Given the description of an element on the screen output the (x, y) to click on. 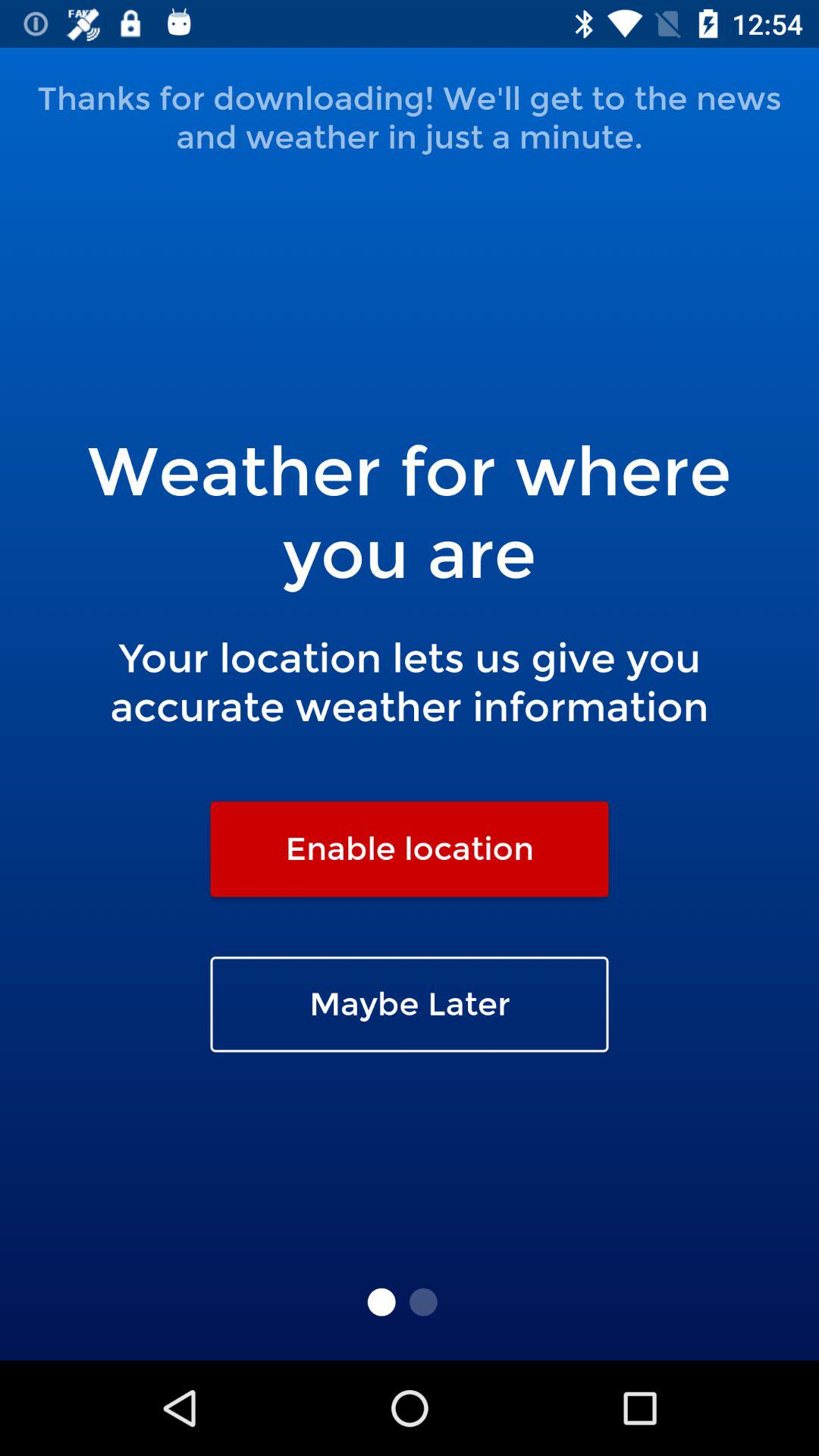
swipe until the maybe later item (409, 1004)
